Given the description of an element on the screen output the (x, y) to click on. 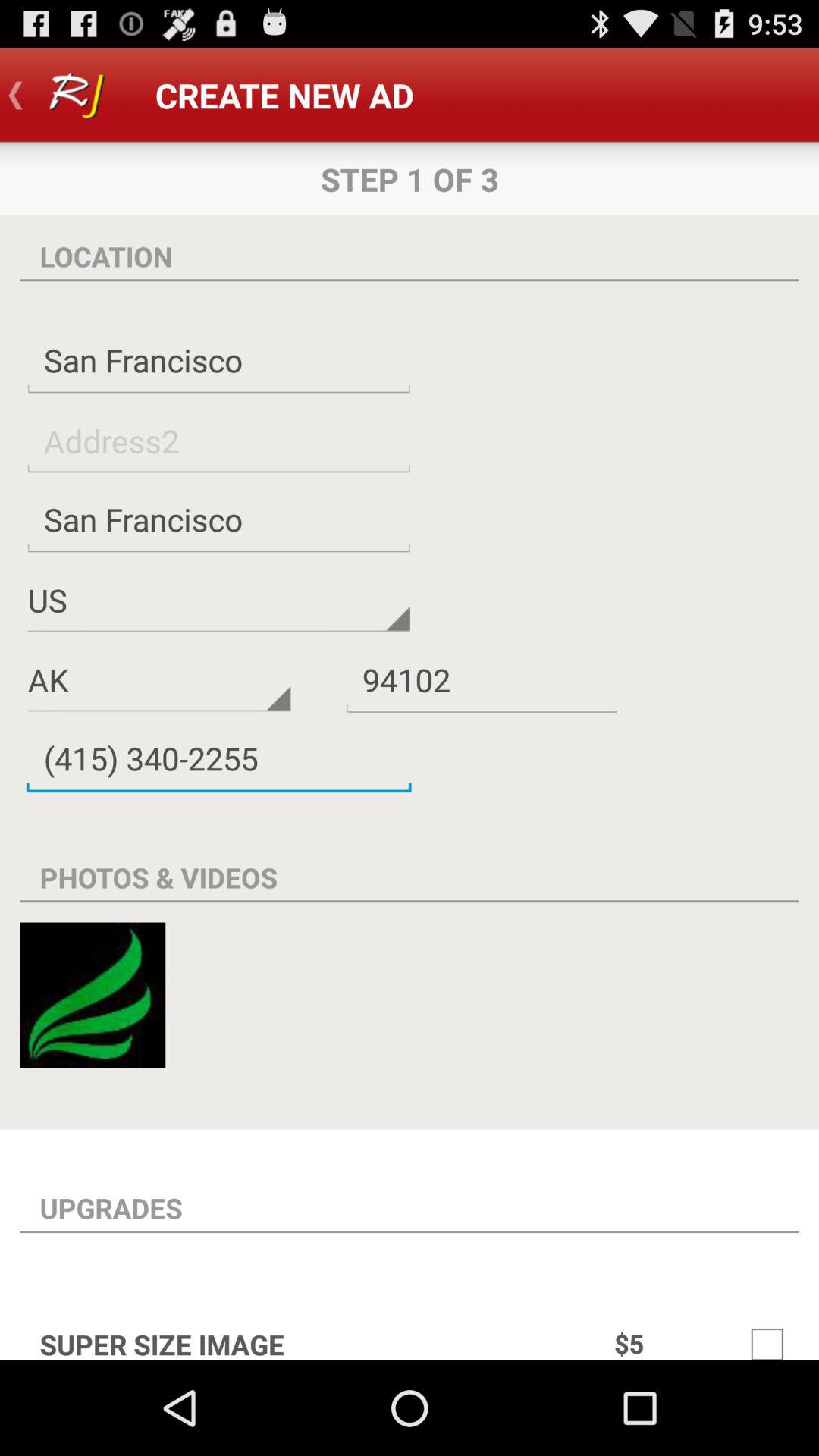
address bar line 2 (218, 440)
